Given the description of an element on the screen output the (x, y) to click on. 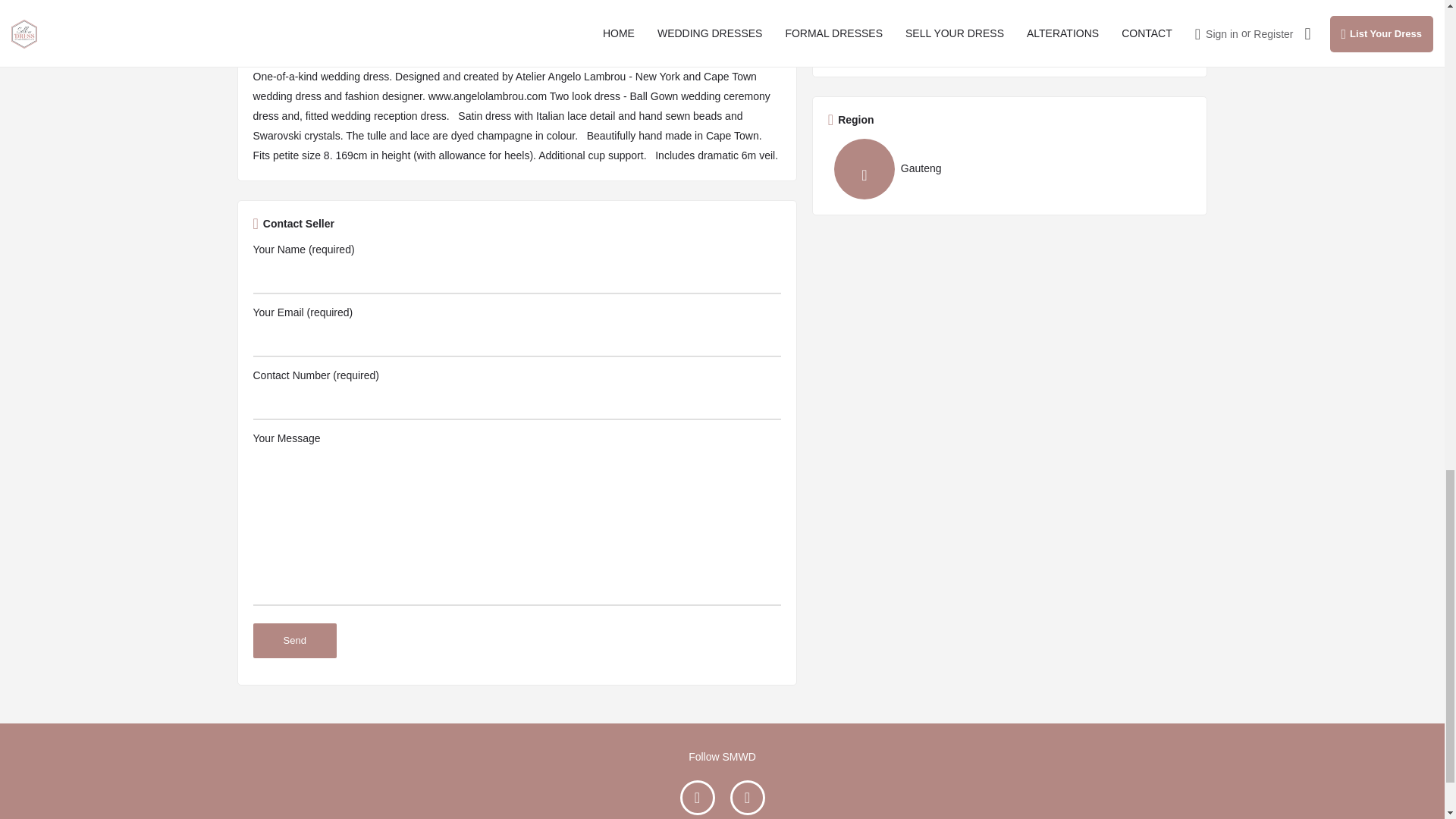
Send (294, 640)
Gauteng (885, 168)
Send (294, 640)
